Given the description of an element on the screen output the (x, y) to click on. 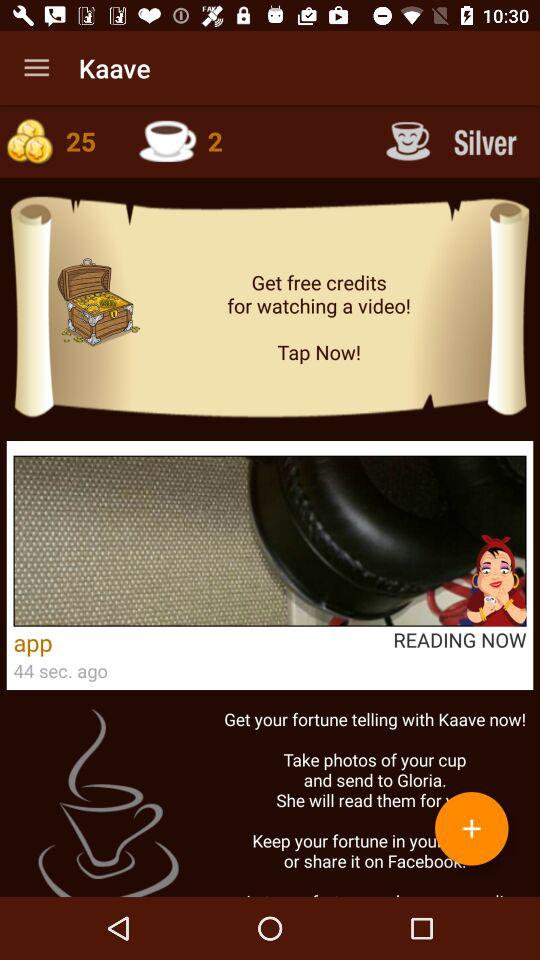
choose the icon at the top right corner (454, 140)
